Given the description of an element on the screen output the (x, y) to click on. 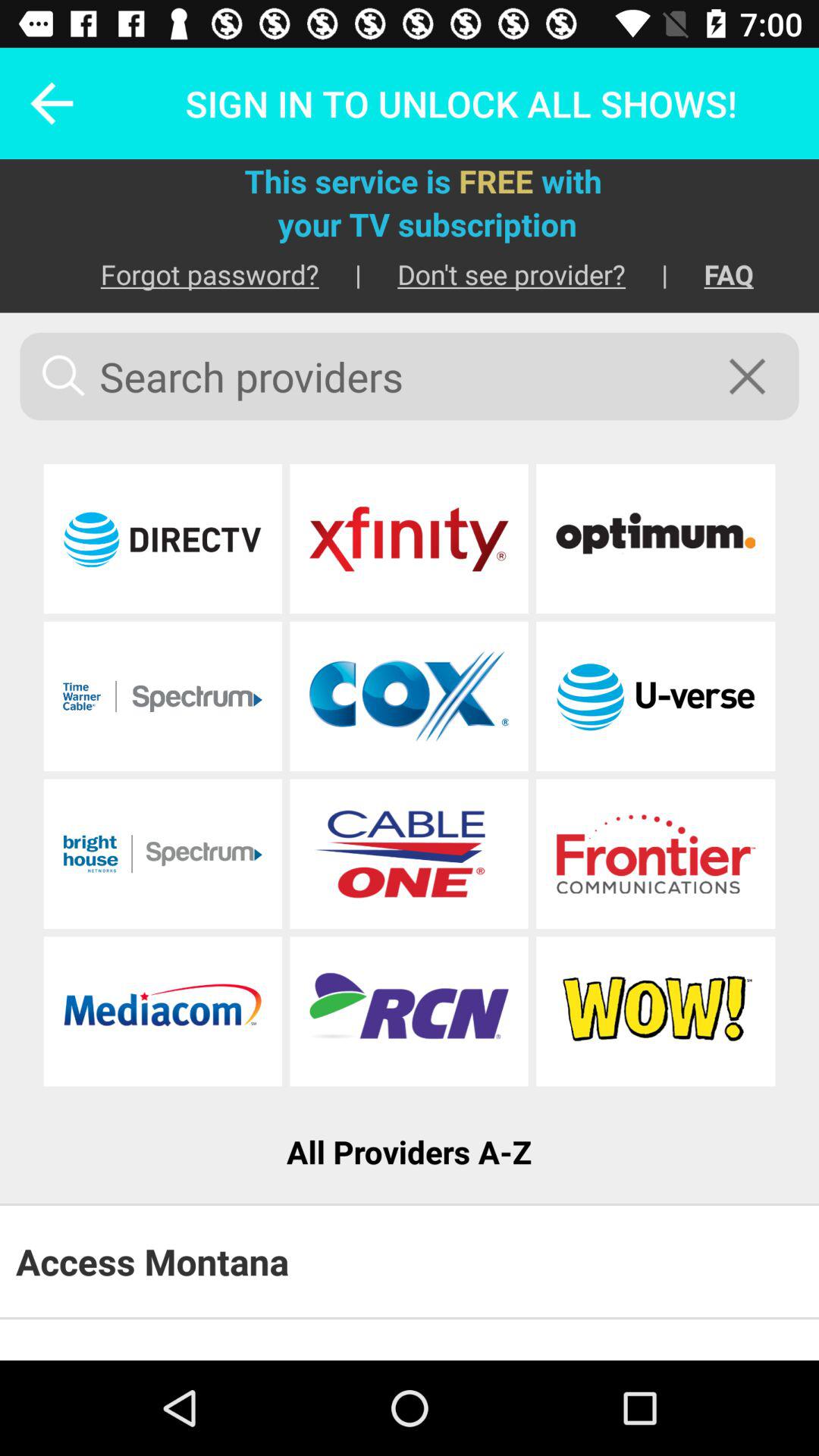
launch the faq item (710, 273)
